Given the description of an element on the screen output the (x, y) to click on. 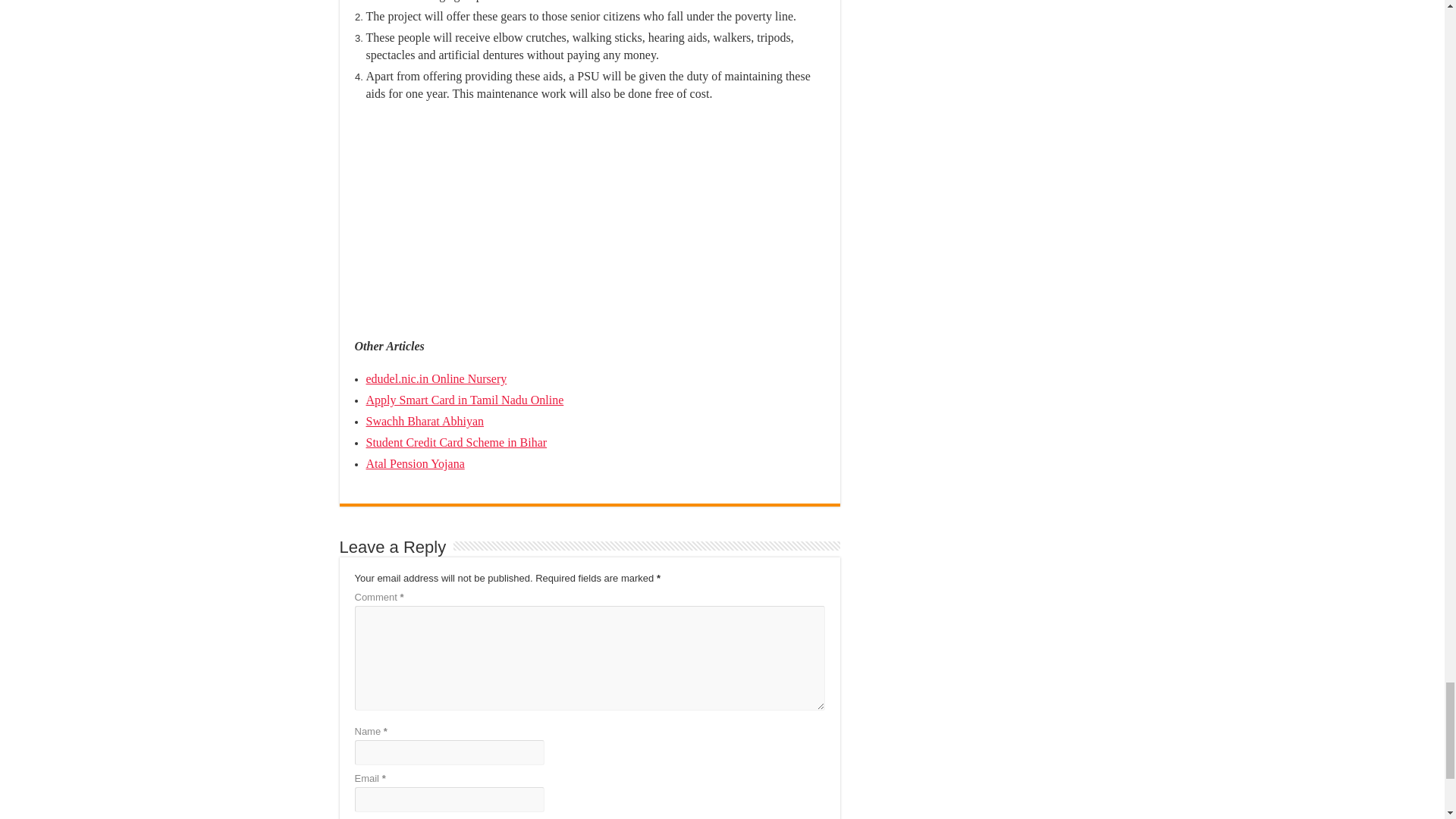
Swachh Bharat Abhiyan (424, 420)
Atal Pension Yojana (414, 463)
Student Credit Card Scheme in Bihar (456, 441)
edudel.nic.in Online Nursery (435, 378)
Apply Smart Card in Tamil Nadu Online (464, 399)
